Given the description of an element on the screen output the (x, y) to click on. 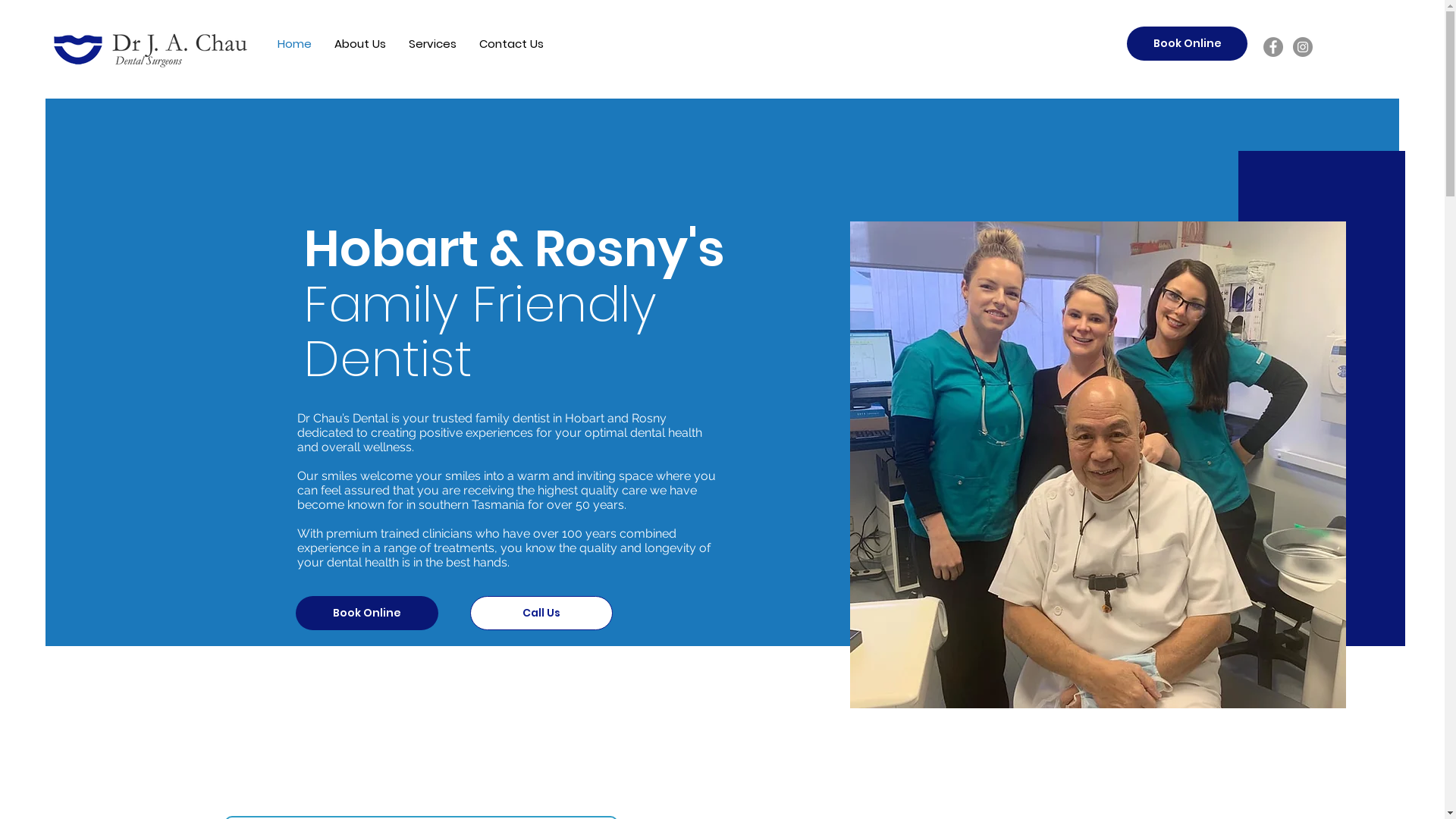
Book Online Element type: text (1186, 43)
Contact Us Element type: text (511, 43)
Call Us Element type: text (541, 613)
Home Element type: text (294, 43)
About Us Element type: text (360, 43)
Book Online Element type: text (366, 613)
